Given the description of an element on the screen output the (x, y) to click on. 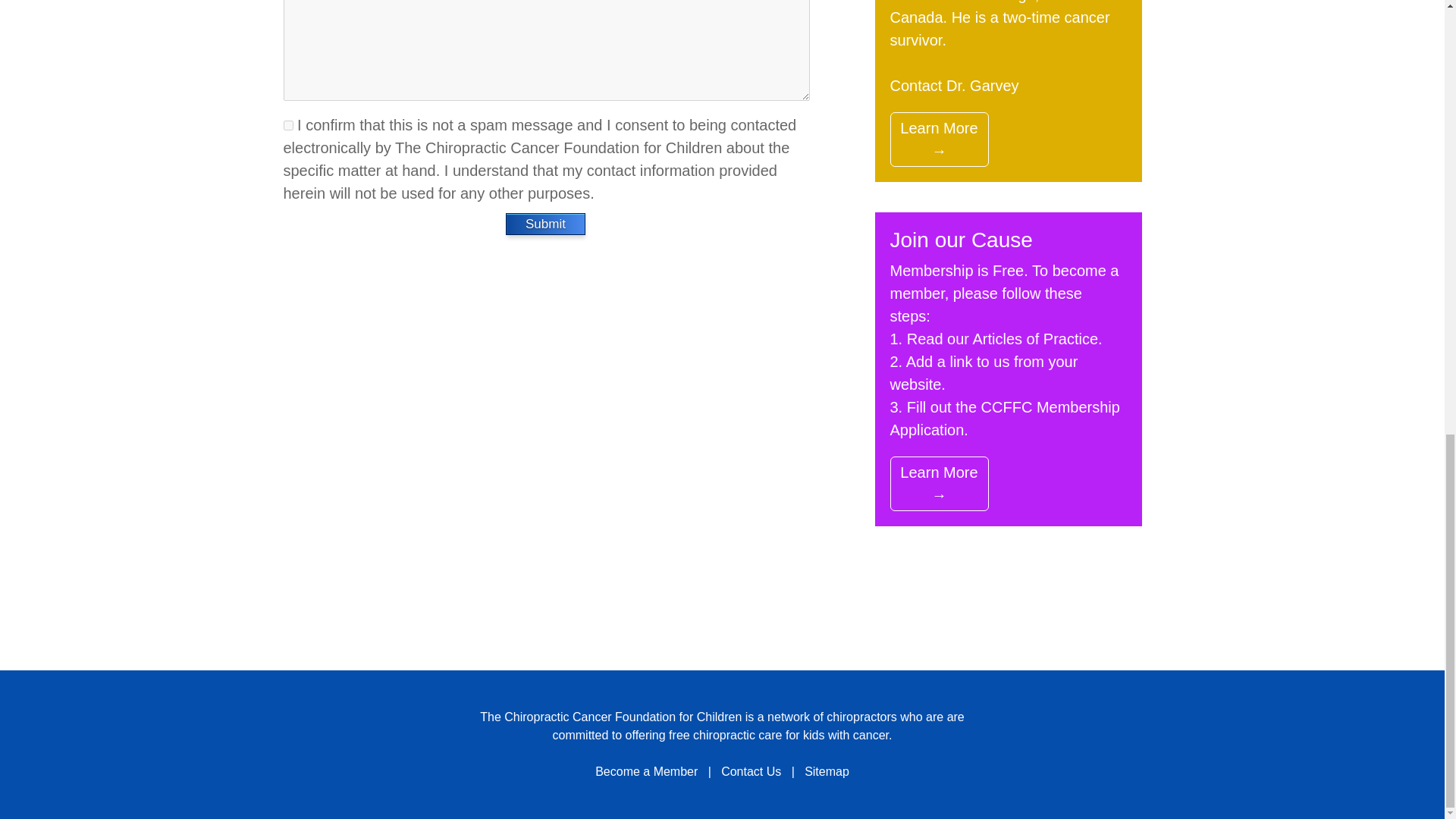
Click here to become a Member (1004, 418)
Click here for Articles of Practice (1034, 338)
Sitemap (826, 771)
Articles of Practice (1034, 338)
CCFFC Membership Application (1004, 418)
Become a Member (646, 771)
Click here to submit the form (545, 223)
on (288, 125)
Submit (545, 223)
Contact Dr. Garvey (954, 85)
Contact Us (750, 771)
Click here to Contact Us (954, 85)
